Given the description of an element on the screen output the (x, y) to click on. 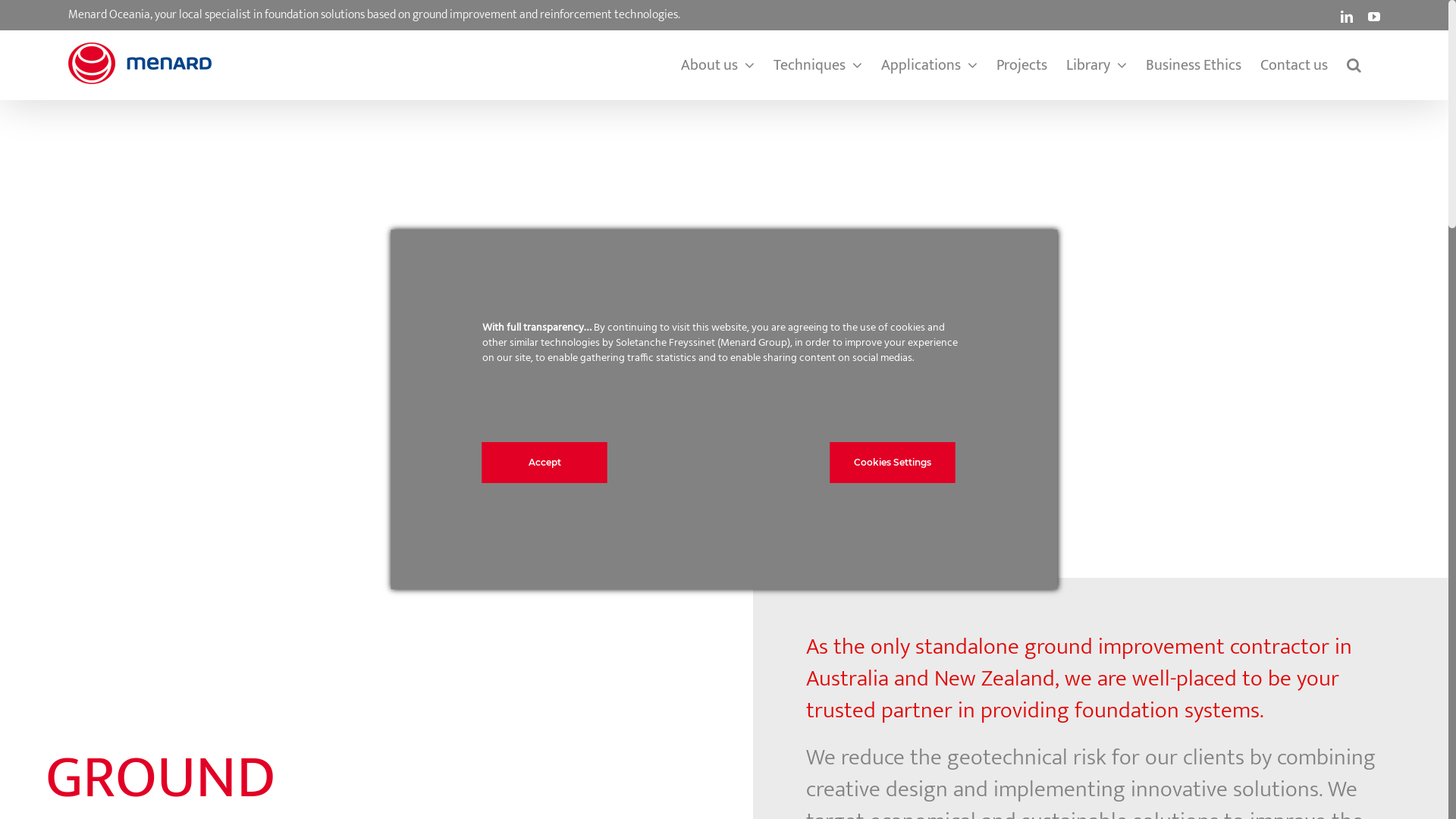
LinkedIn Element type: text (1346, 16)
Library Element type: text (1096, 65)
Contact us Element type: text (1293, 65)
About us Element type: text (717, 65)
Business Ethics Element type: text (1193, 65)
Applications Element type: text (929, 65)
Search Element type: hover (1353, 65)
Techniques Element type: text (817, 65)
Projects Element type: text (1021, 65)
YouTube Element type: text (1374, 16)
